Given the description of an element on the screen output the (x, y) to click on. 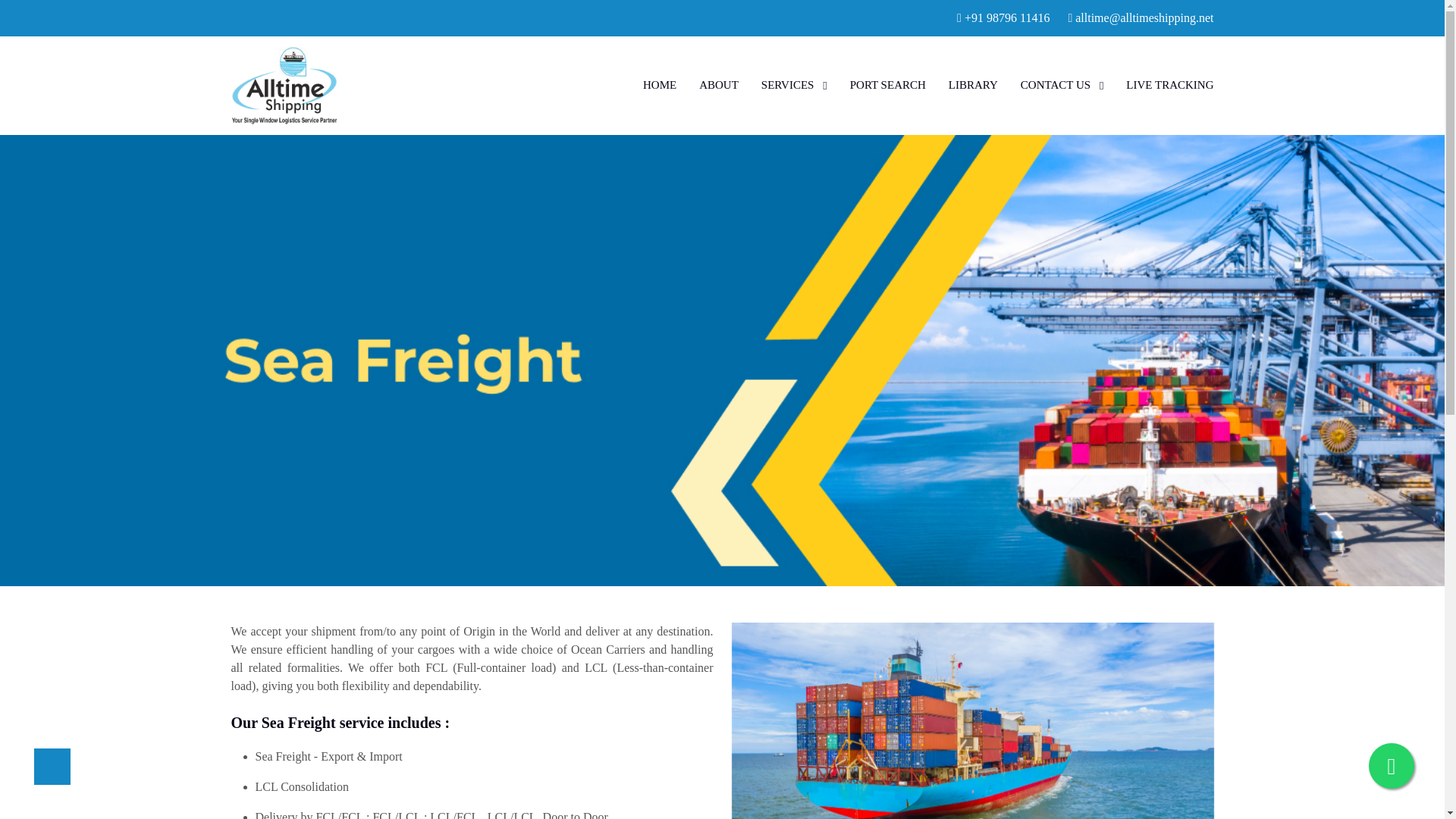
SERVICES (794, 85)
CONTACT US (1061, 85)
LIBRARY (973, 85)
HOME (660, 85)
PORT SEARCH (888, 85)
LIVE TRACKING (1168, 85)
ABOUT (718, 85)
